Given the description of an element on the screen output the (x, y) to click on. 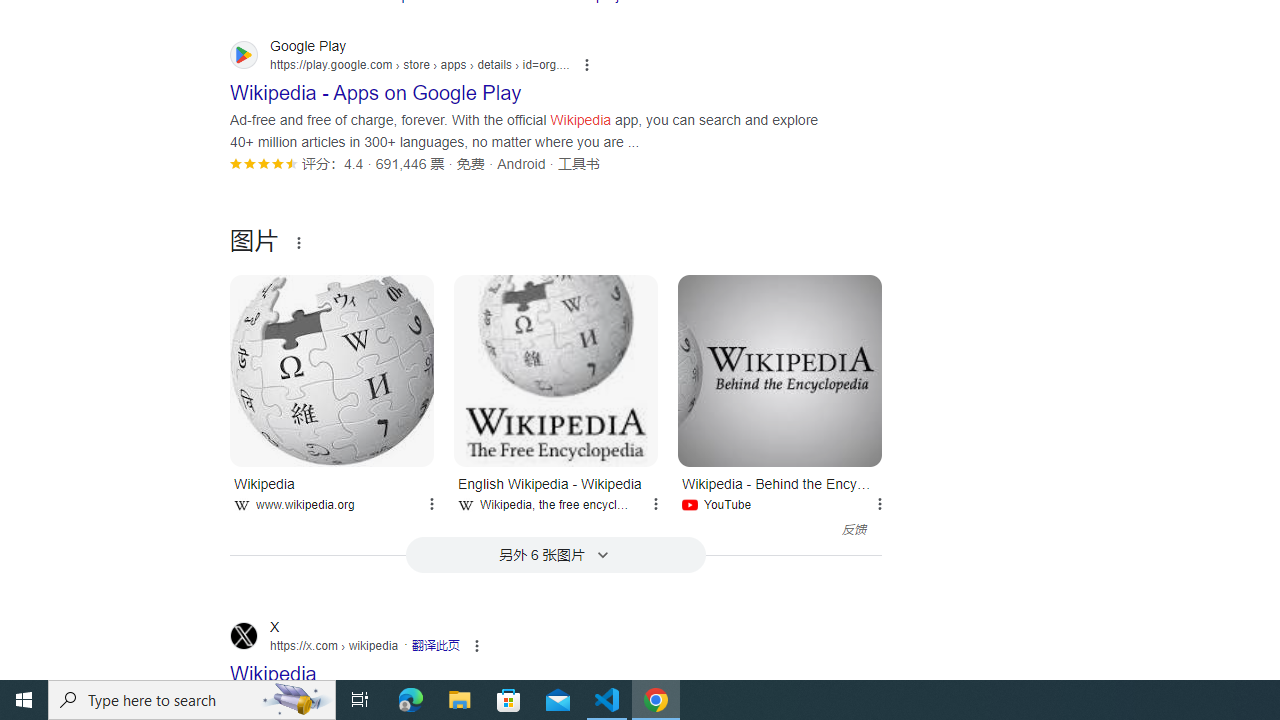
Wikipedia - Behind the Encyclopedia YouTube (779, 490)
